Given the description of an element on the screen output the (x, y) to click on. 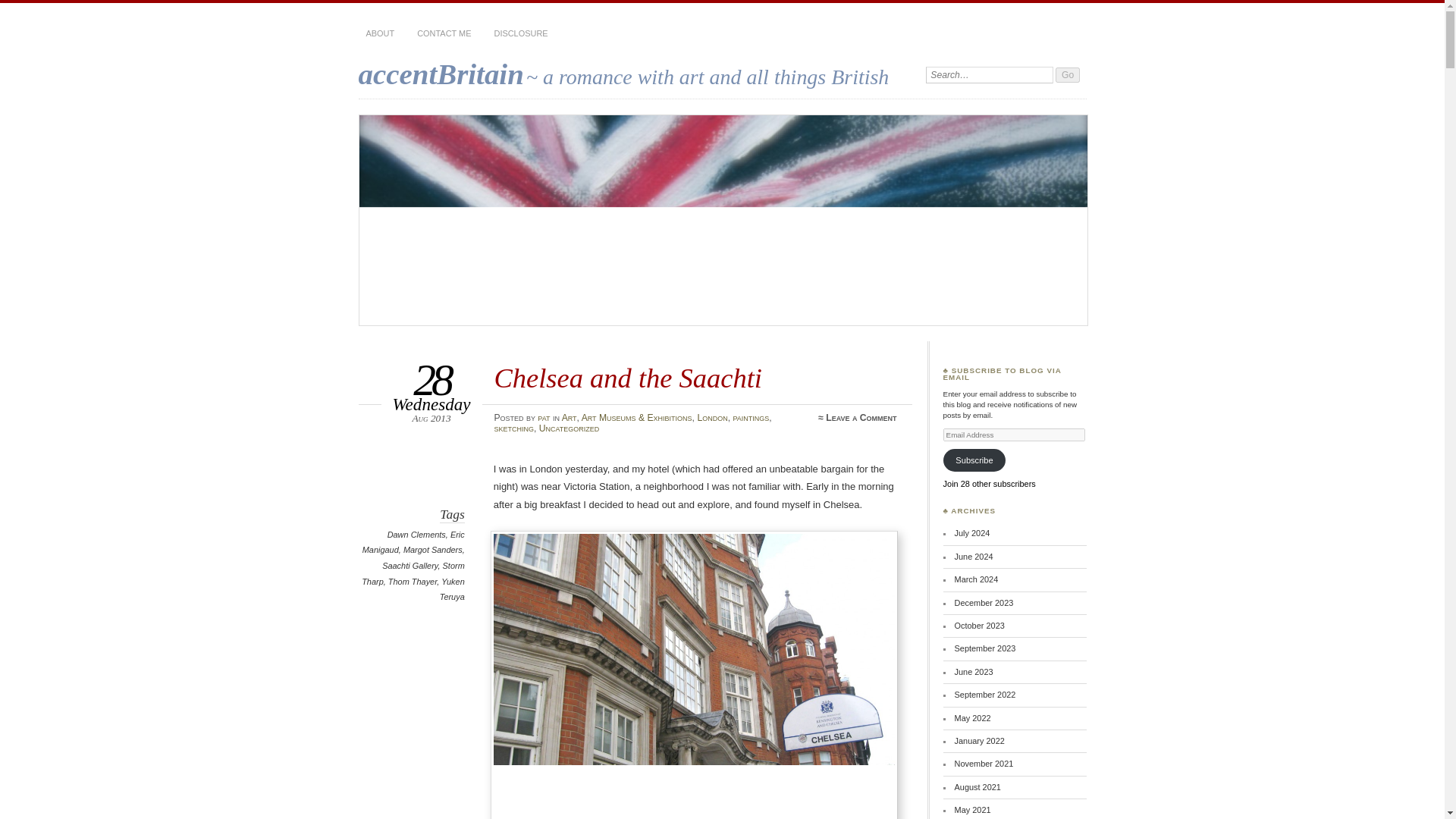
Art (569, 417)
Leave a Comment (860, 417)
Uncategorized (568, 428)
sketching (513, 428)
paintings (750, 417)
pat (543, 417)
Go (1067, 74)
accentBritain (440, 73)
Margot Sanders (433, 549)
Yuken Teruya (451, 589)
accentBritain (440, 73)
View all posts by pat (543, 417)
Thom Thayer (412, 581)
London (711, 417)
